Given the description of an element on the screen output the (x, y) to click on. 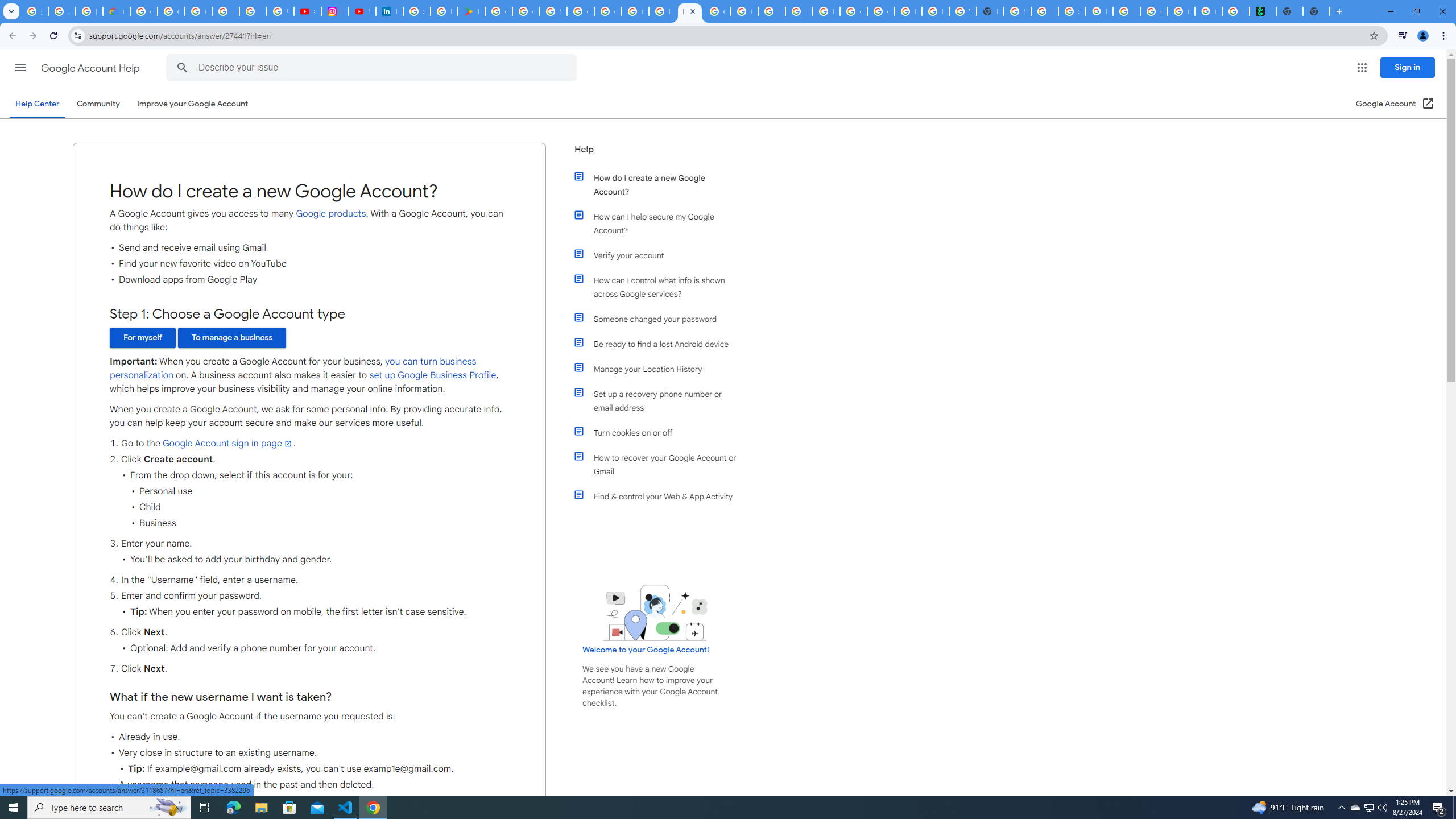
How can I control what info is shown across Google services? (661, 286)
How do I create a new Google Account? - Google Account Help (690, 11)
